Given the description of an element on the screen output the (x, y) to click on. 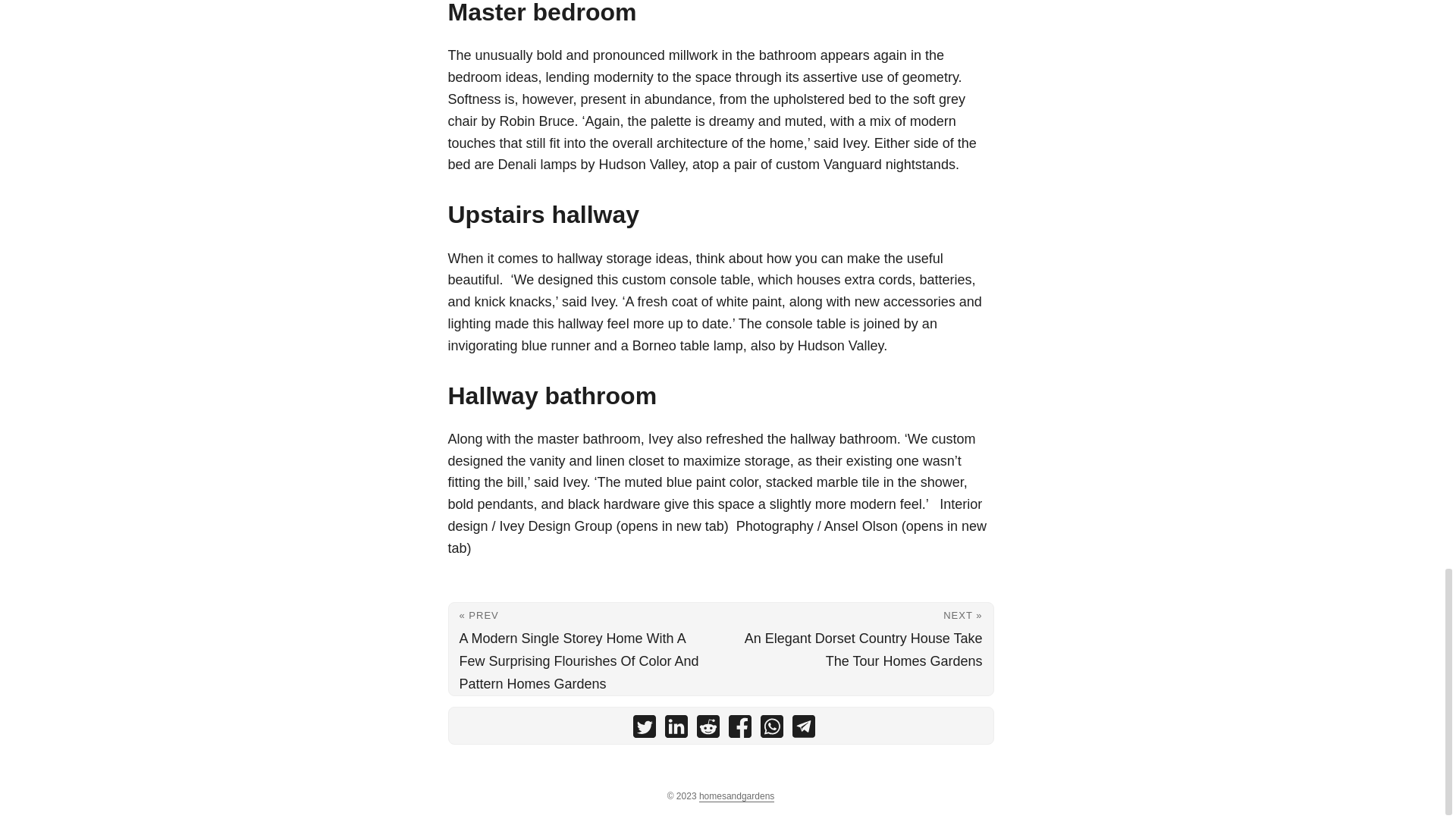
homesandgardens (736, 796)
